Given the description of an element on the screen output the (x, y) to click on. 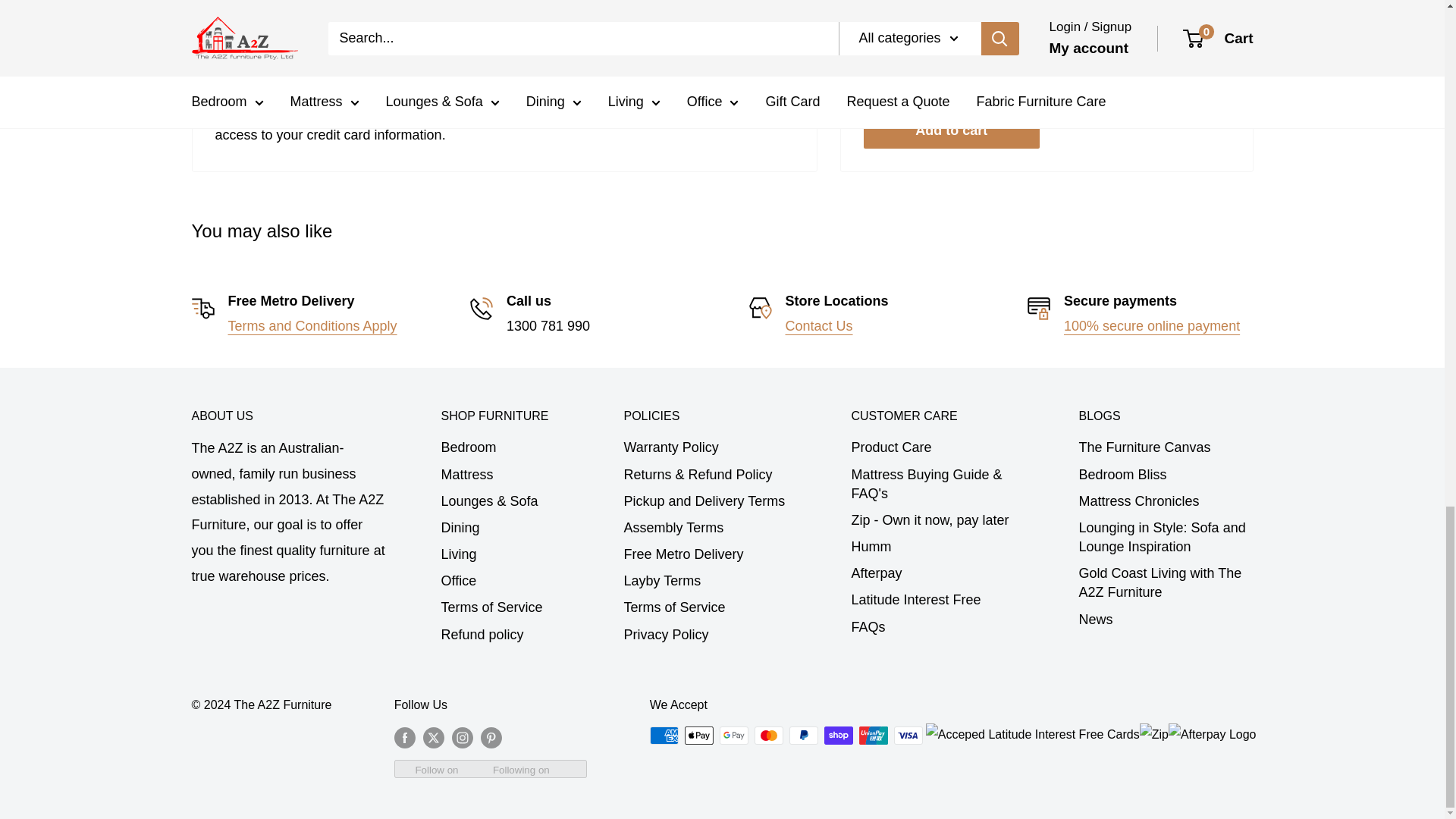
Contact Us (819, 325)
Free Metro Delivery (311, 325)
Payment Security (1152, 325)
